Given the description of an element on the screen output the (x, y) to click on. 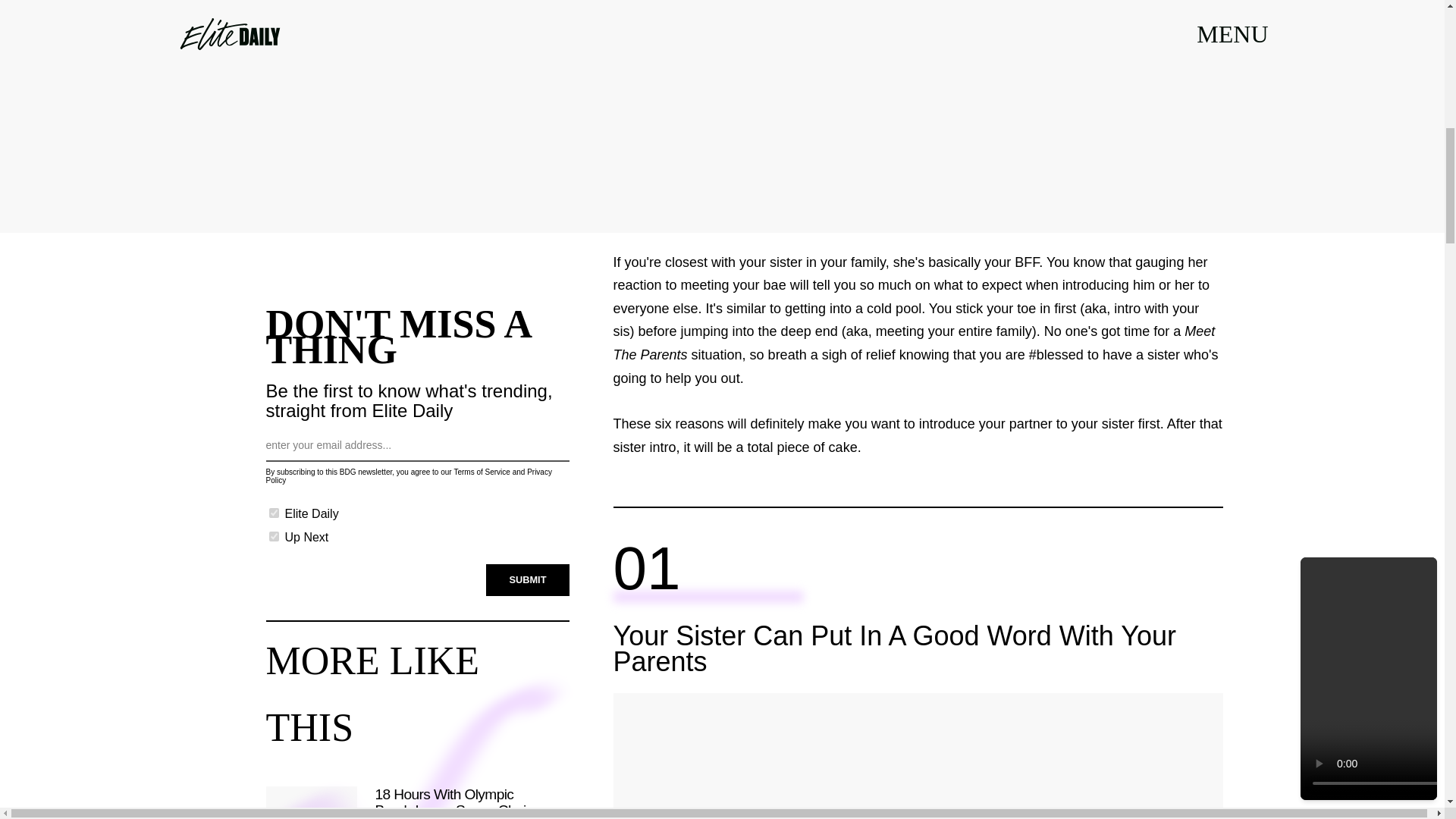
Privacy Policy (407, 475)
SUBMIT (527, 580)
Terms of Service (480, 471)
